Given the description of an element on the screen output the (x, y) to click on. 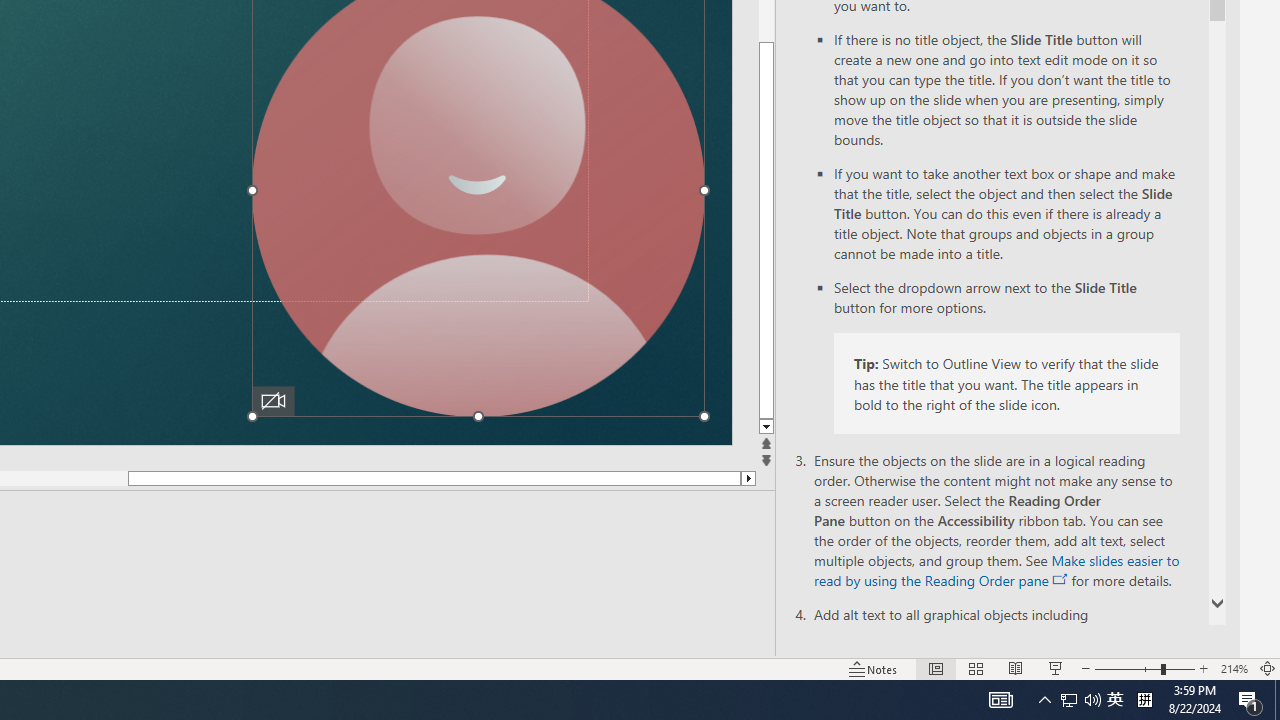
Notion (333, 687)
Decrease Text Size (1028, 640)
Read Mode (864, 640)
